Given the description of an element on the screen output the (x, y) to click on. 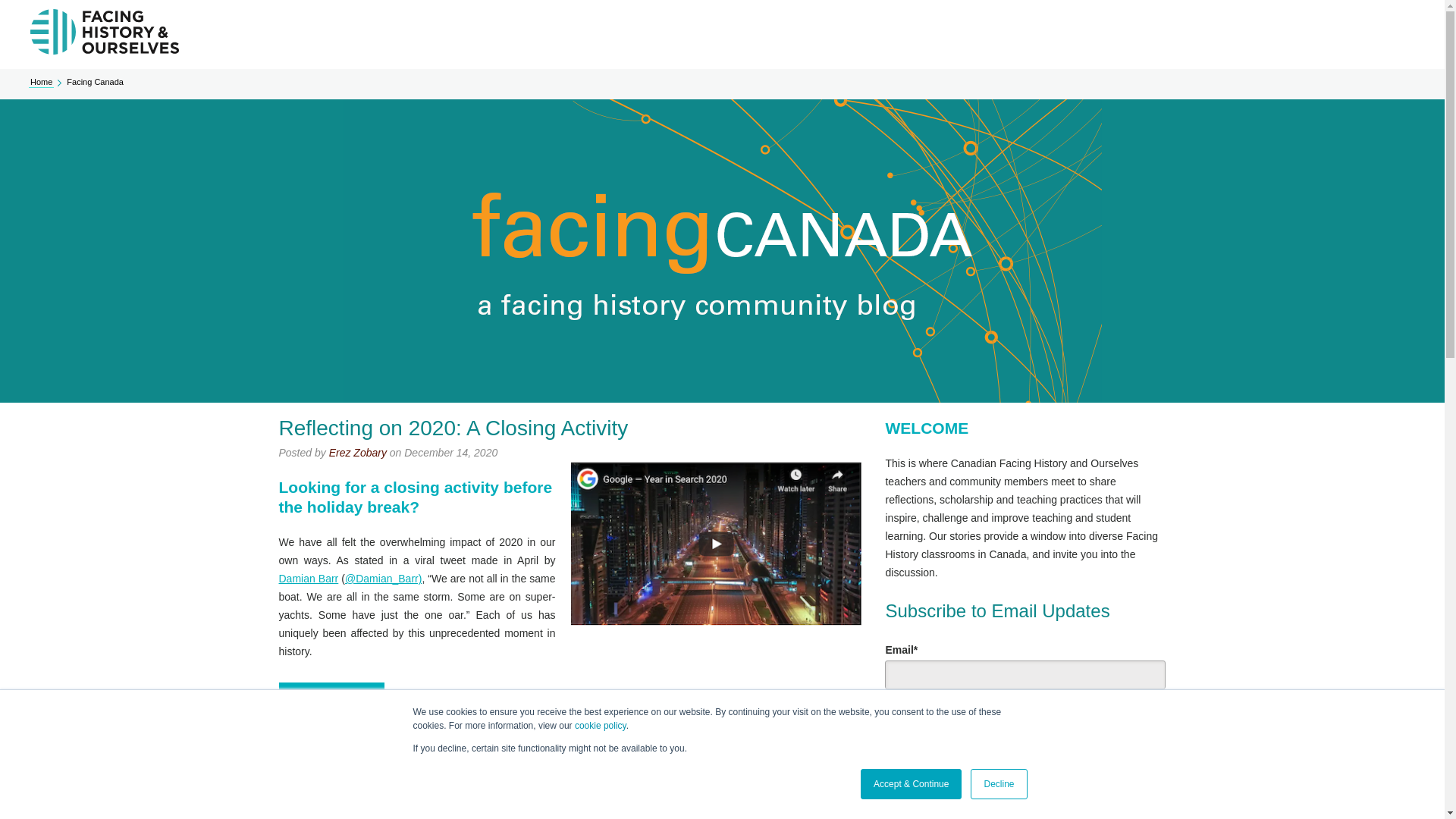
English Classroom (487, 735)
English (614, 735)
Erez Zobary (358, 817)
Erez Zobary (358, 452)
Reflecting on 2020: A Closing Activity (453, 427)
Home (41, 81)
Holiday lesson (677, 735)
reflection (565, 735)
READ MORE (331, 698)
Damian Barr (309, 578)
cookie policy (600, 725)
English Language Arts (375, 735)
Privacy Policy (1012, 807)
pandemic (745, 735)
instant (893, 716)
